Given the description of an element on the screen output the (x, y) to click on. 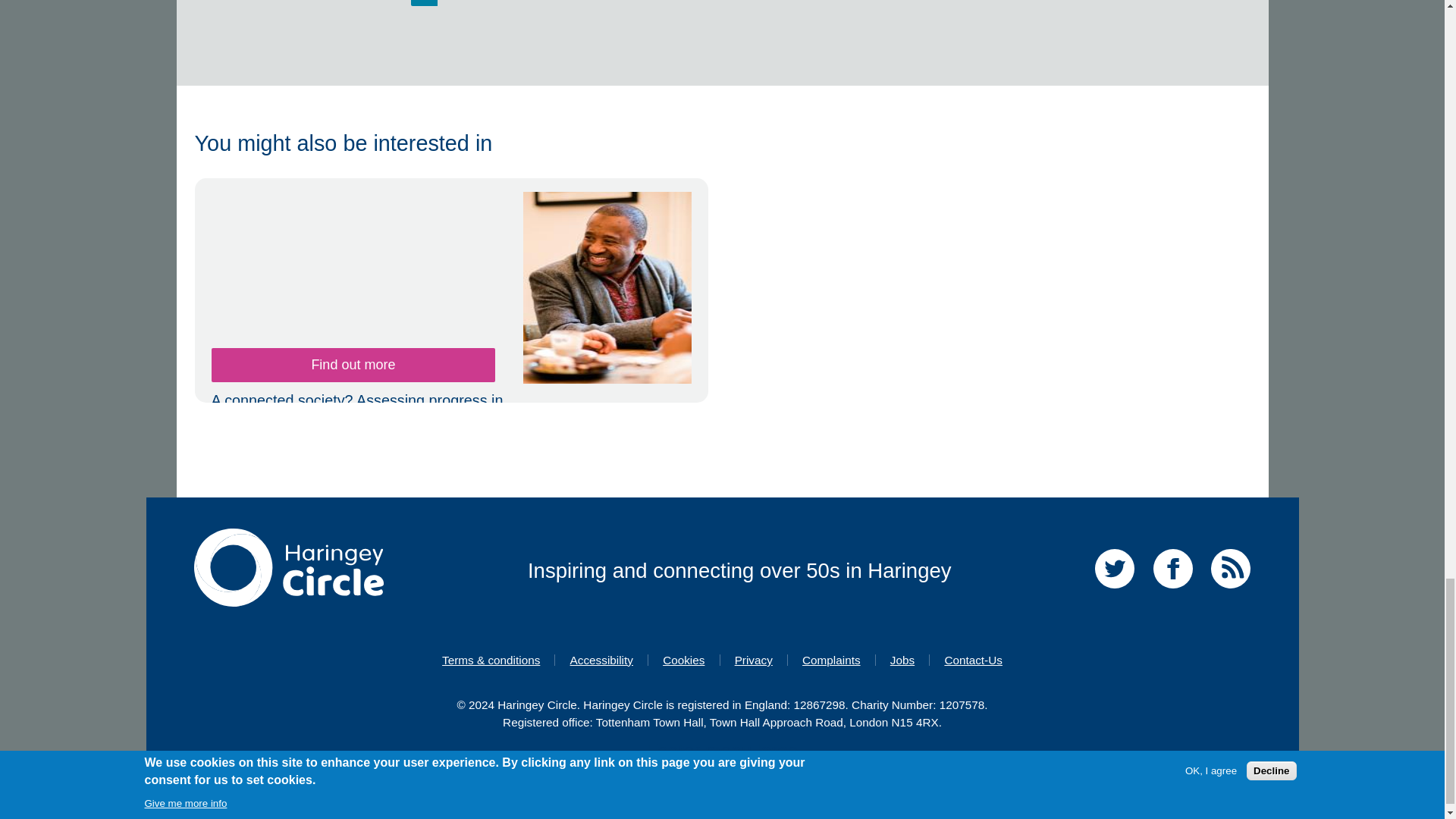
Facebook (1172, 590)
RSS (1230, 590)
Twitter (1114, 590)
